Given the description of an element on the screen output the (x, y) to click on. 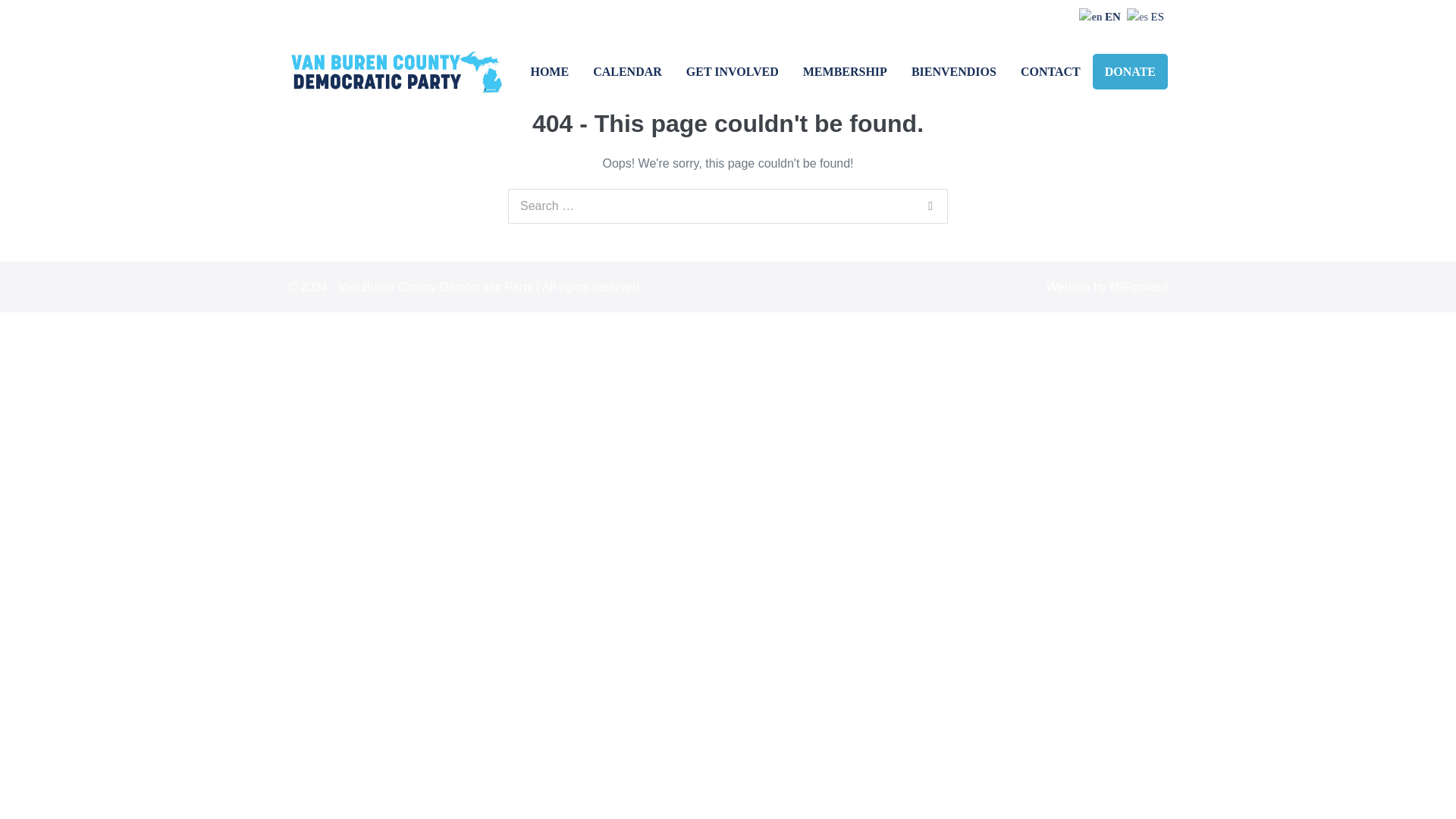
BIENVENDIOS (954, 71)
English (1101, 16)
Van Buren County Democratic Party (398, 71)
HOME (549, 71)
MEMBERSHIP (844, 71)
CONTACT (1051, 71)
Press enter to search (727, 206)
DONATE (1130, 71)
EN (1101, 16)
ES (1146, 16)
